Given the description of an element on the screen output the (x, y) to click on. 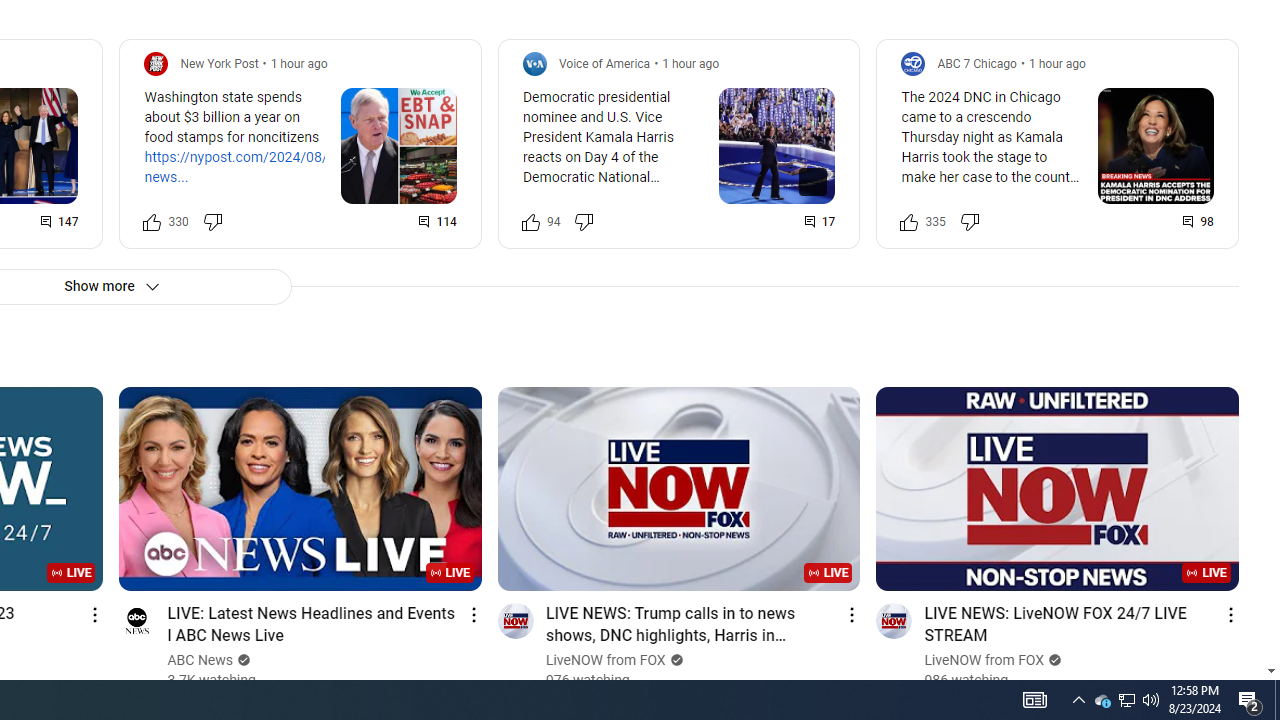
Action menu (1229, 614)
ABC News (200, 660)
Comment (1199, 221)
https://nypost.com/2024/08/21/us-news... (255, 166)
